Given the description of an element on the screen output the (x, y) to click on. 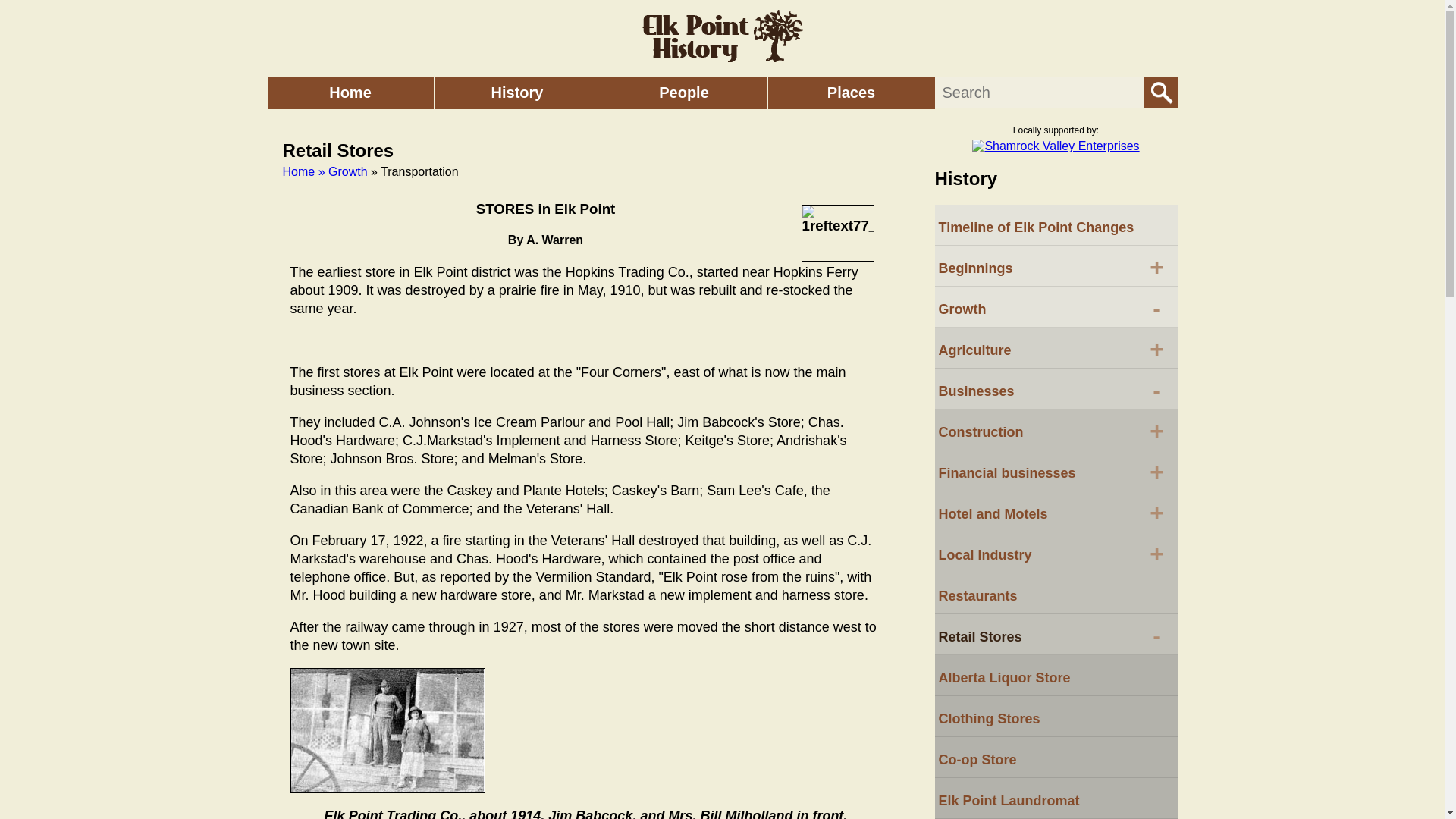
Places (850, 92)
Timeline of Elk Point Changes (1055, 224)
Home (349, 92)
Home (1055, 306)
Enter the terms you wish to search for. (298, 171)
People (1038, 91)
History (683, 92)
Skip to main content (516, 92)
